Given the description of an element on the screen output the (x, y) to click on. 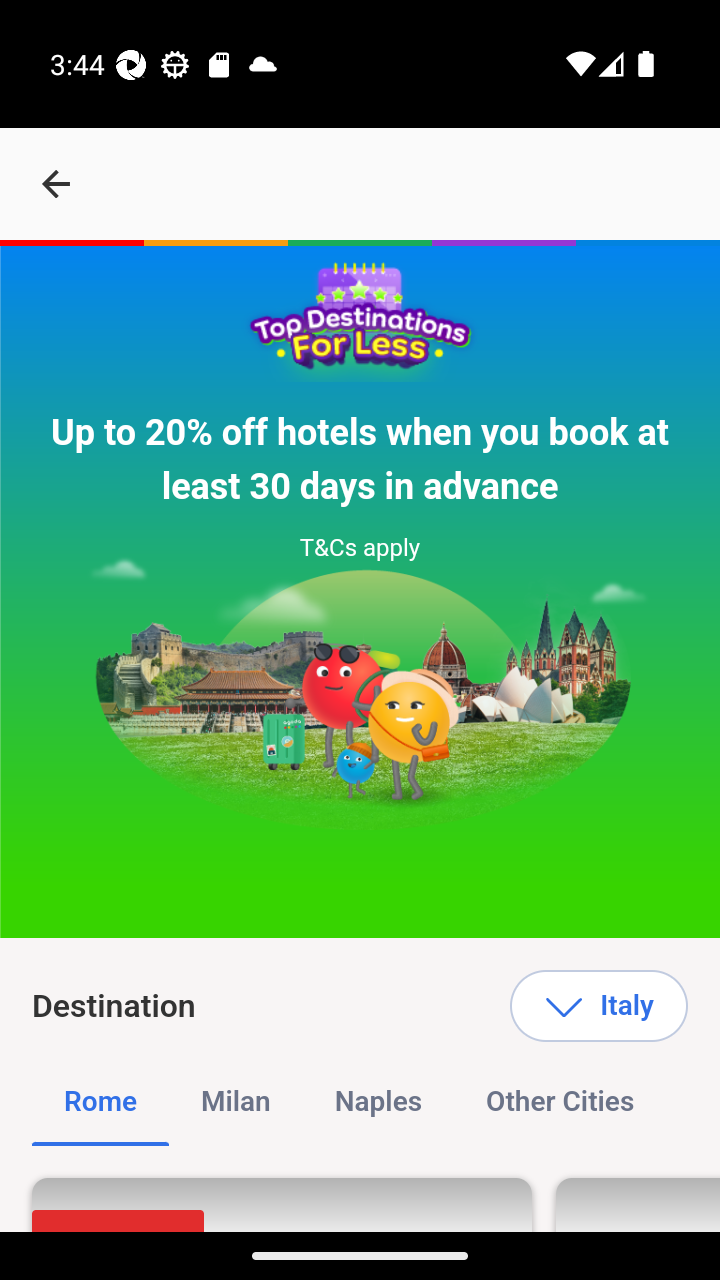
navigation_button (56, 184)
Italy (598, 1005)
